Given the description of an element on the screen output the (x, y) to click on. 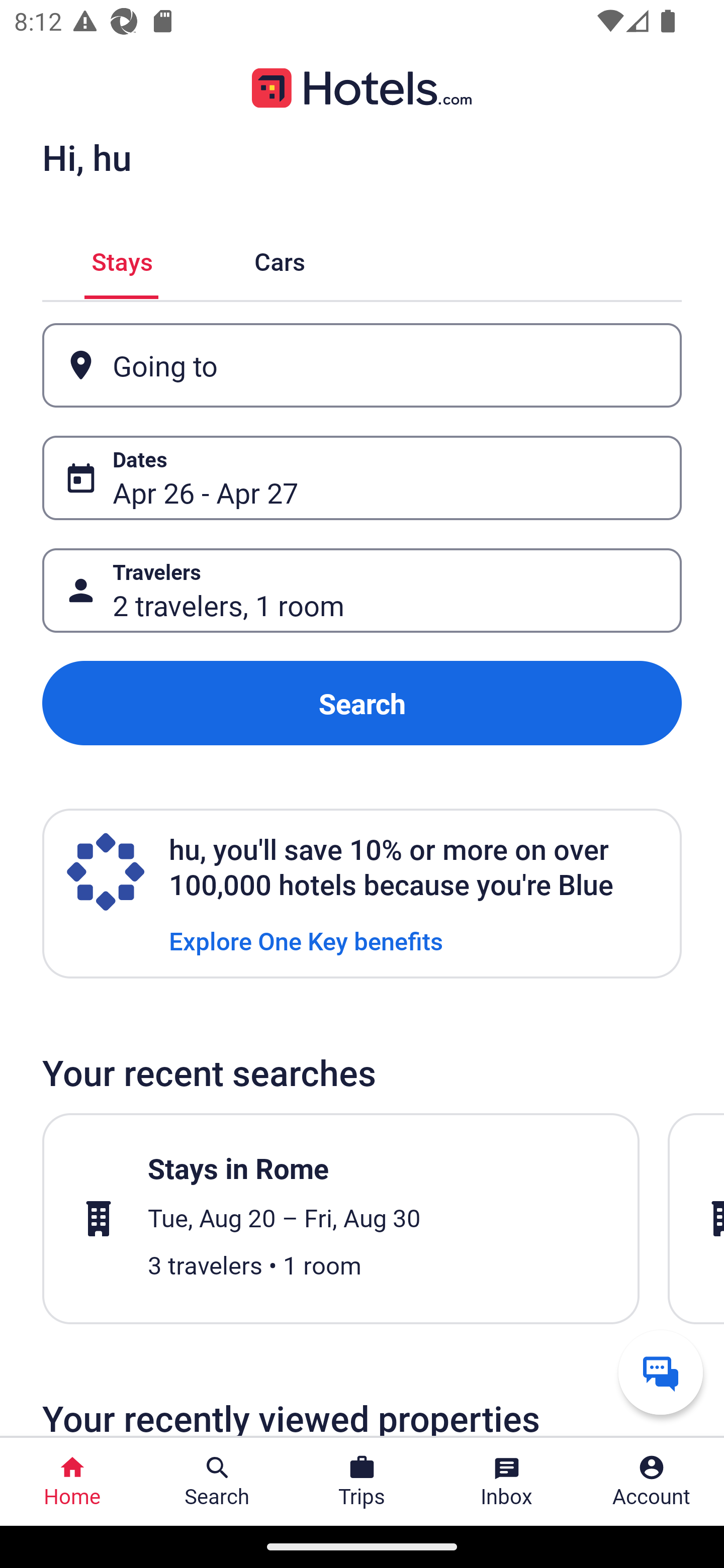
Hi, hu (86, 156)
Cars (279, 259)
Going to Button (361, 365)
Dates Button Apr 26 - Apr 27 (361, 477)
Travelers Button 2 travelers, 1 room (361, 590)
Search (361, 702)
Get help from a virtual agent (660, 1371)
Search Search Button (216, 1481)
Trips Trips Button (361, 1481)
Inbox Inbox Button (506, 1481)
Account Profile. Button (651, 1481)
